Given the description of an element on the screen output the (x, y) to click on. 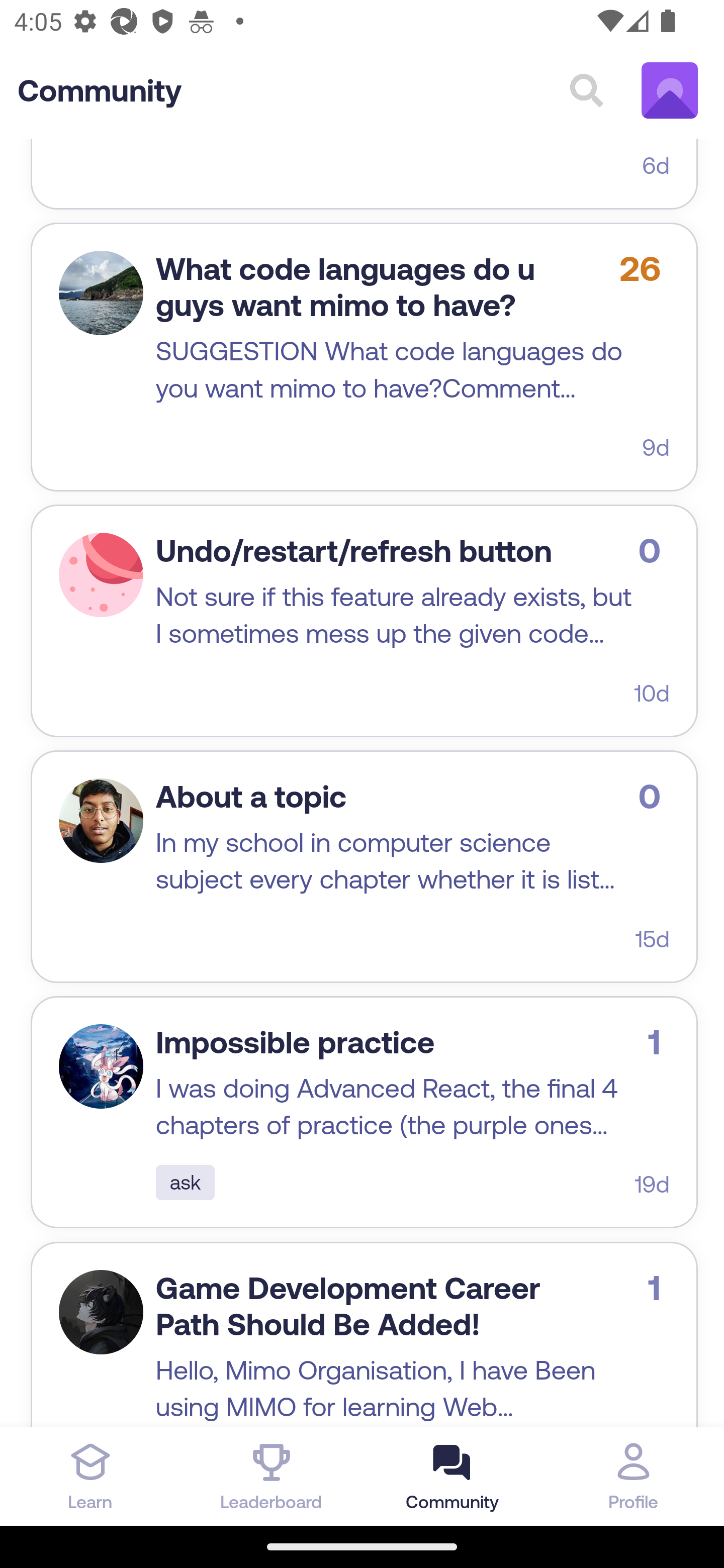
Search (586, 91)
Test Appium's account (669, 91)
Community (100, 91)
6d (655, 164)
1 (100, 292)
What code languages do u guys want mimo to have? (345, 286)
9d (655, 448)
1 (100, 576)
Undo/restart/refresh button (353, 551)
This topic has 0 replies (653, 551)
10d (651, 692)
1 (100, 820)
This topic has 0 replies (653, 795)
About a topic (251, 796)
15d (651, 939)
1 (100, 1066)
This topic has 1 reply (658, 1041)
Impossible practice (295, 1042)
ask (185, 1183)
19d (651, 1185)
1 (100, 1313)
Game Development Career Path Should Be Added! (348, 1306)
This topic has 1 reply (658, 1288)
Learn (90, 1475)
Leaderboard (271, 1475)
Profile (633, 1475)
